Given the description of an element on the screen output the (x, y) to click on. 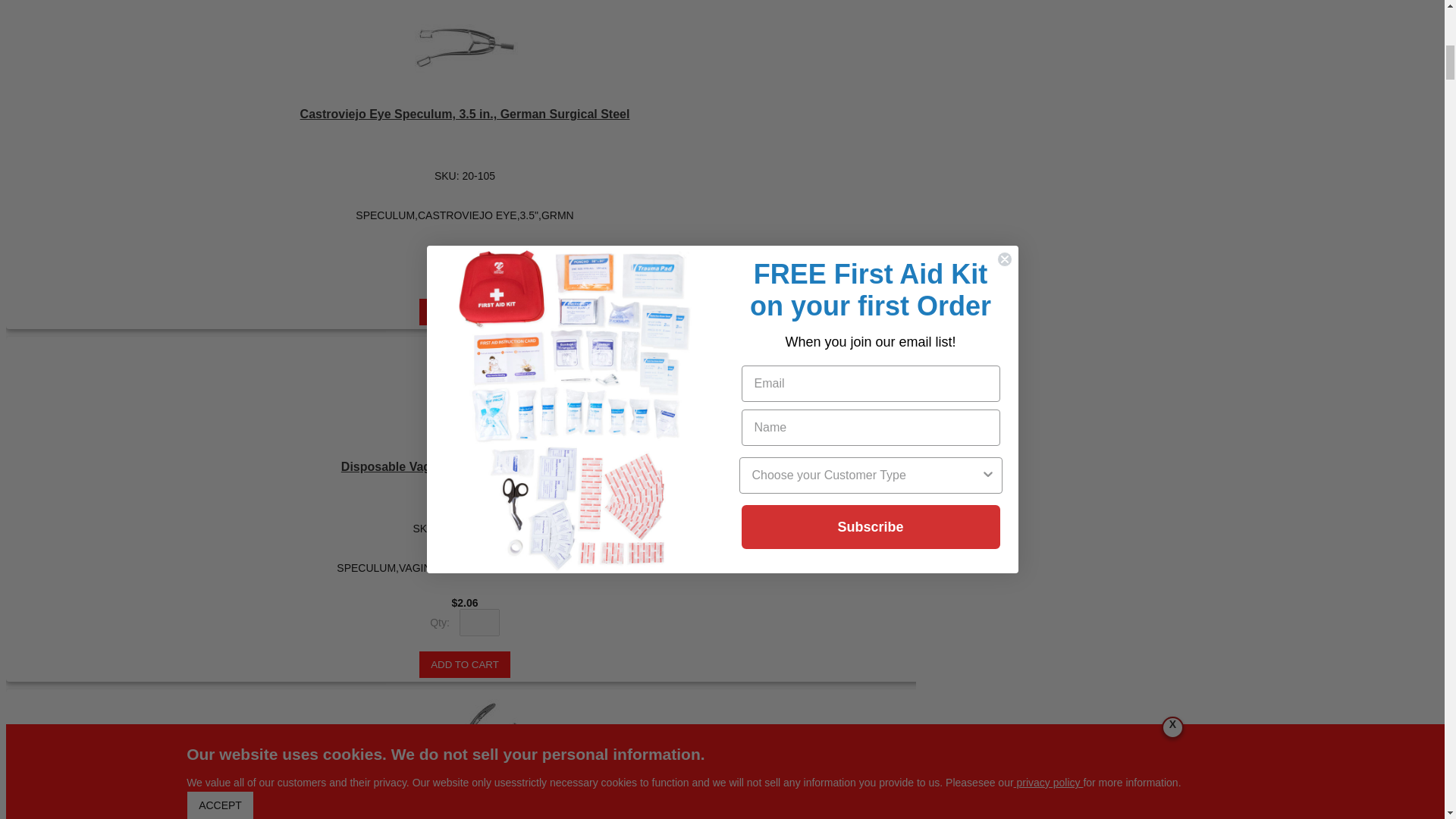
Add to cart (465, 311)
Add to cart (465, 664)
